Given the description of an element on the screen output the (x, y) to click on. 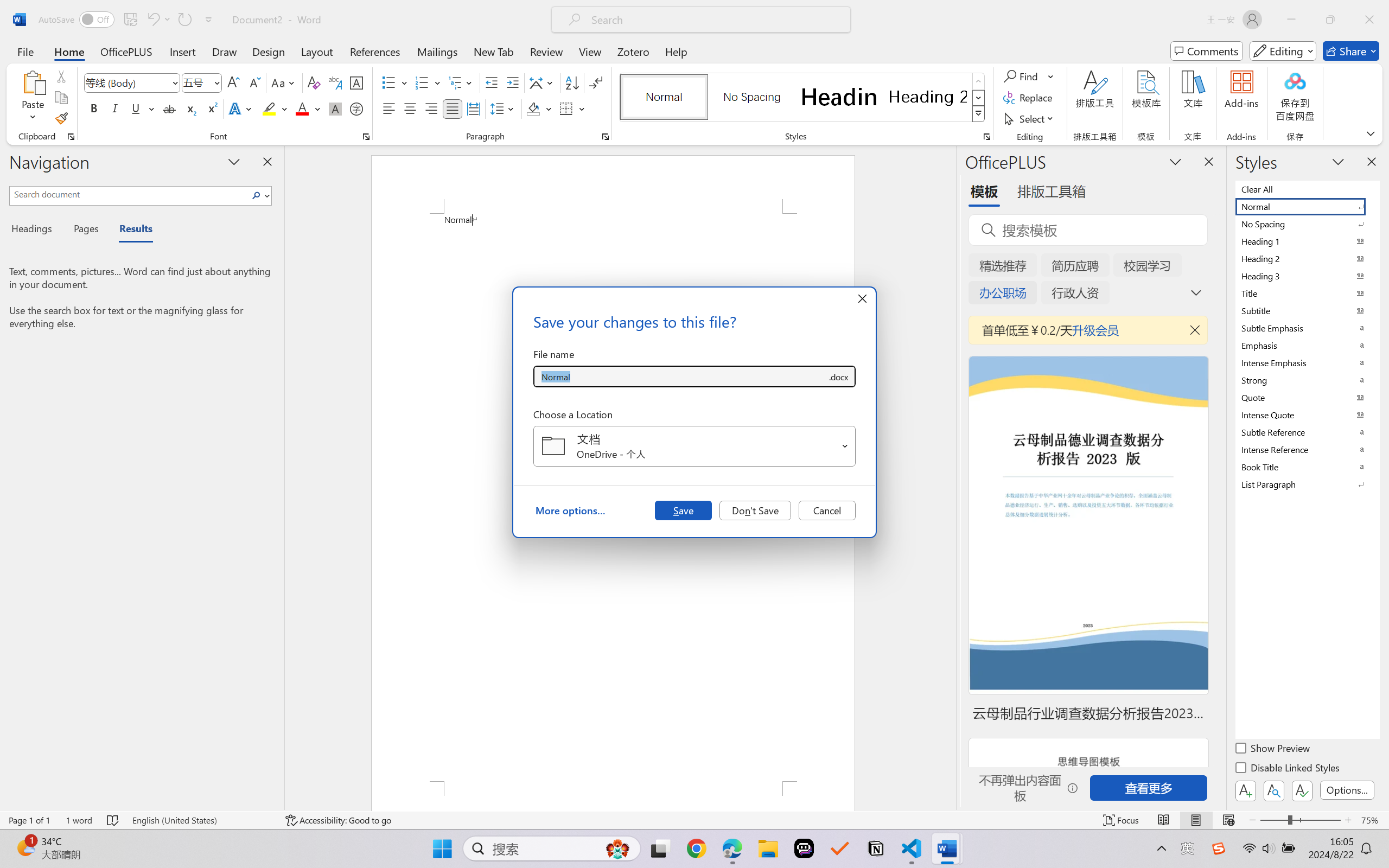
Help (675, 51)
Superscript (210, 108)
Spelling and Grammar Check No Errors (113, 819)
Class: MsoCommandBar (694, 819)
Don't Save (755, 509)
Borders (571, 108)
OfficePLUS (126, 51)
Intense Reference (1306, 449)
Restore Down (1330, 19)
Shading RGB(0, 0, 0) (533, 108)
Phonetic Guide... (334, 82)
AutoSave (76, 19)
Poe (804, 848)
